Given the description of an element on the screen output the (x, y) to click on. 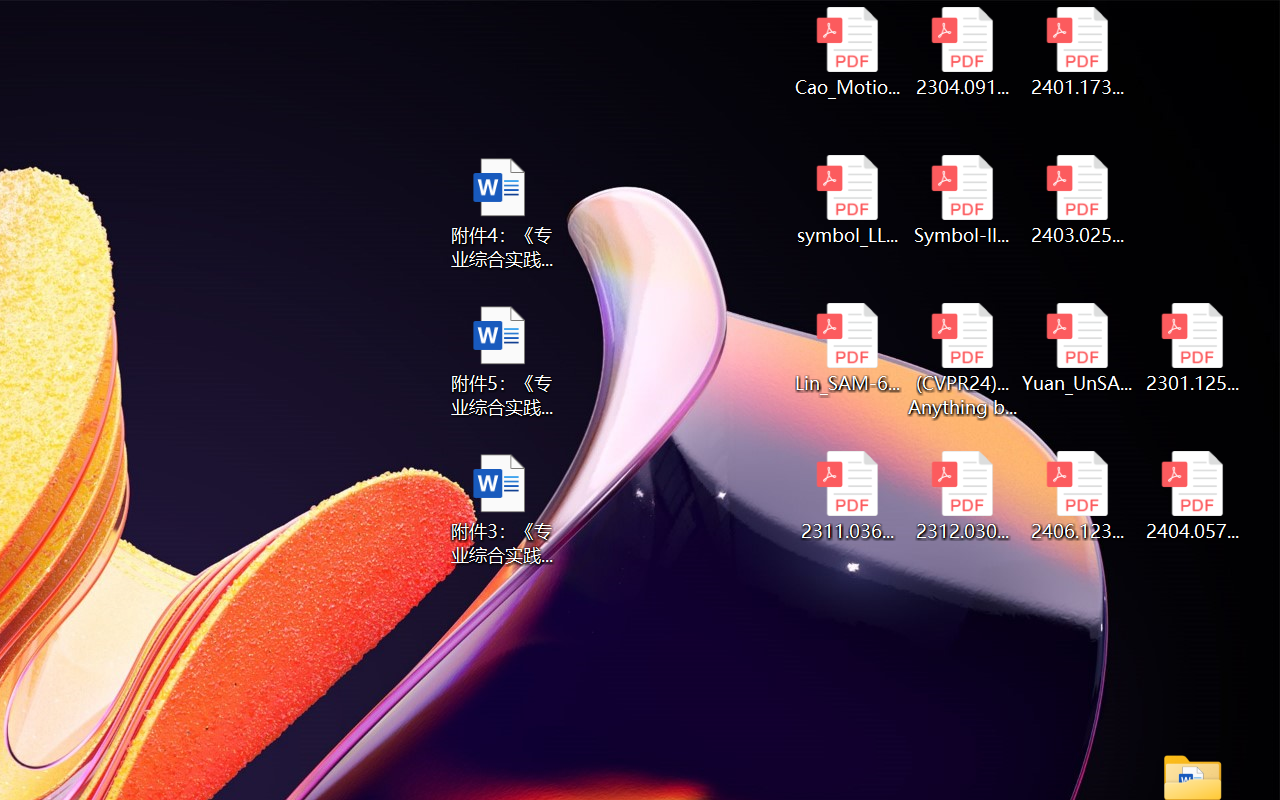
(CVPR24)Matching Anything by Segmenting Anything.pdf (962, 360)
2406.12373v2.pdf (1077, 496)
Symbol-llm-v2.pdf (962, 200)
2304.09121v3.pdf (962, 52)
2311.03658v2.pdf (846, 496)
2401.17399v1.pdf (1077, 52)
2404.05719v1.pdf (1192, 496)
2301.12597v3.pdf (1192, 348)
2312.03032v2.pdf (962, 496)
